Given the description of an element on the screen output the (x, y) to click on. 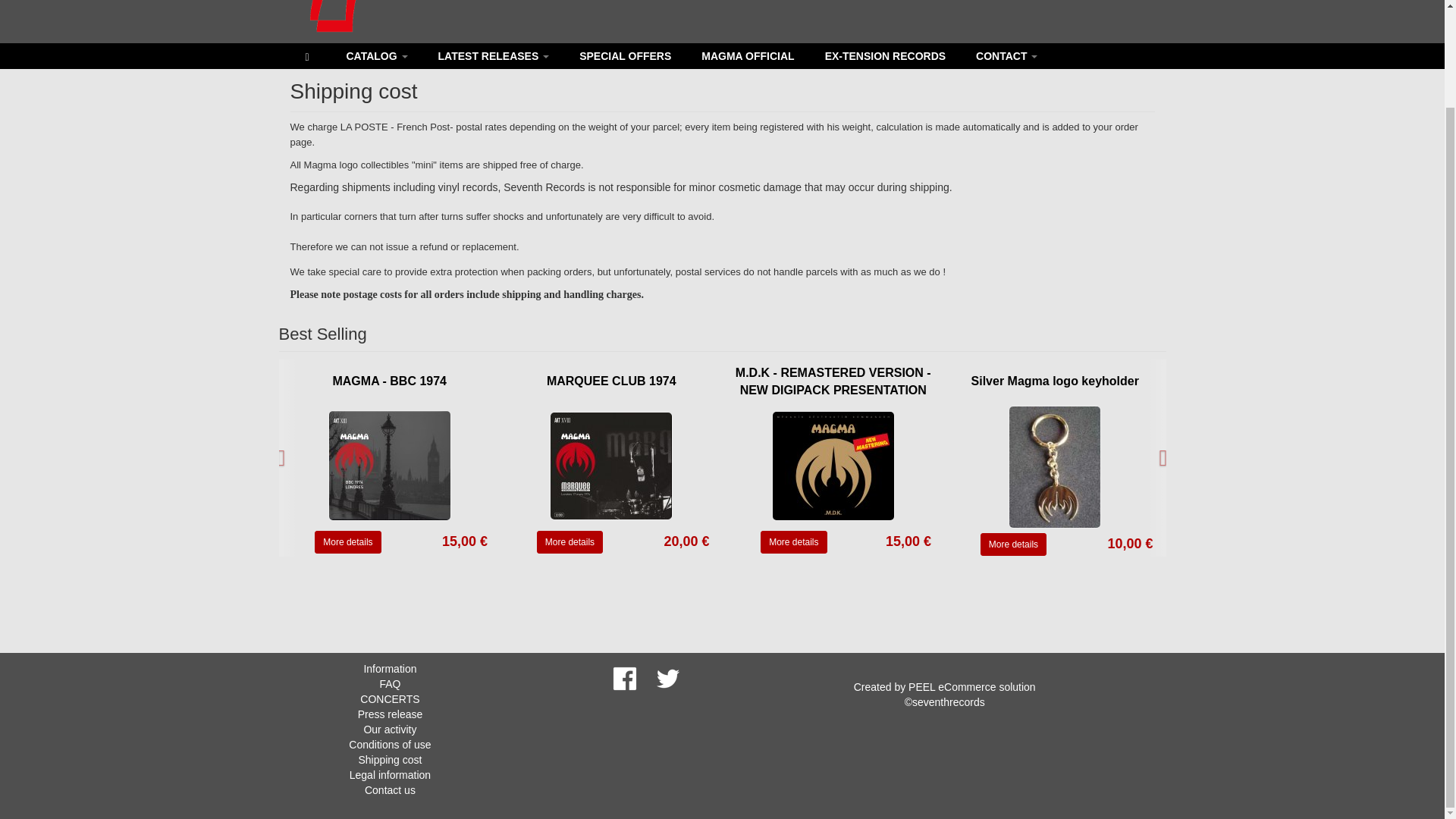
MAGMA - BBC 1974 (388, 380)
MARQUEE CLUB 1974 (612, 380)
MAGMA OFFICIAL (747, 55)
MARQUEE CLUB 1974 (611, 464)
LATEST RELEASES (493, 55)
More details (569, 541)
CATALOG (376, 55)
MARQUEE CLUB 1974 (569, 541)
More details (347, 541)
MAGMA - BBC 1974 (388, 380)
MAGMA - BBC 1974 (390, 464)
M.D.K - REMASTERED VERSION - NEW DIGIPACK PRESENTATION (833, 381)
Silver Magma logo keyholder (1054, 380)
Silver Magma logo keyholder (1012, 544)
MAGMA - BBC 1974 (347, 541)
